Given the description of an element on the screen output the (x, y) to click on. 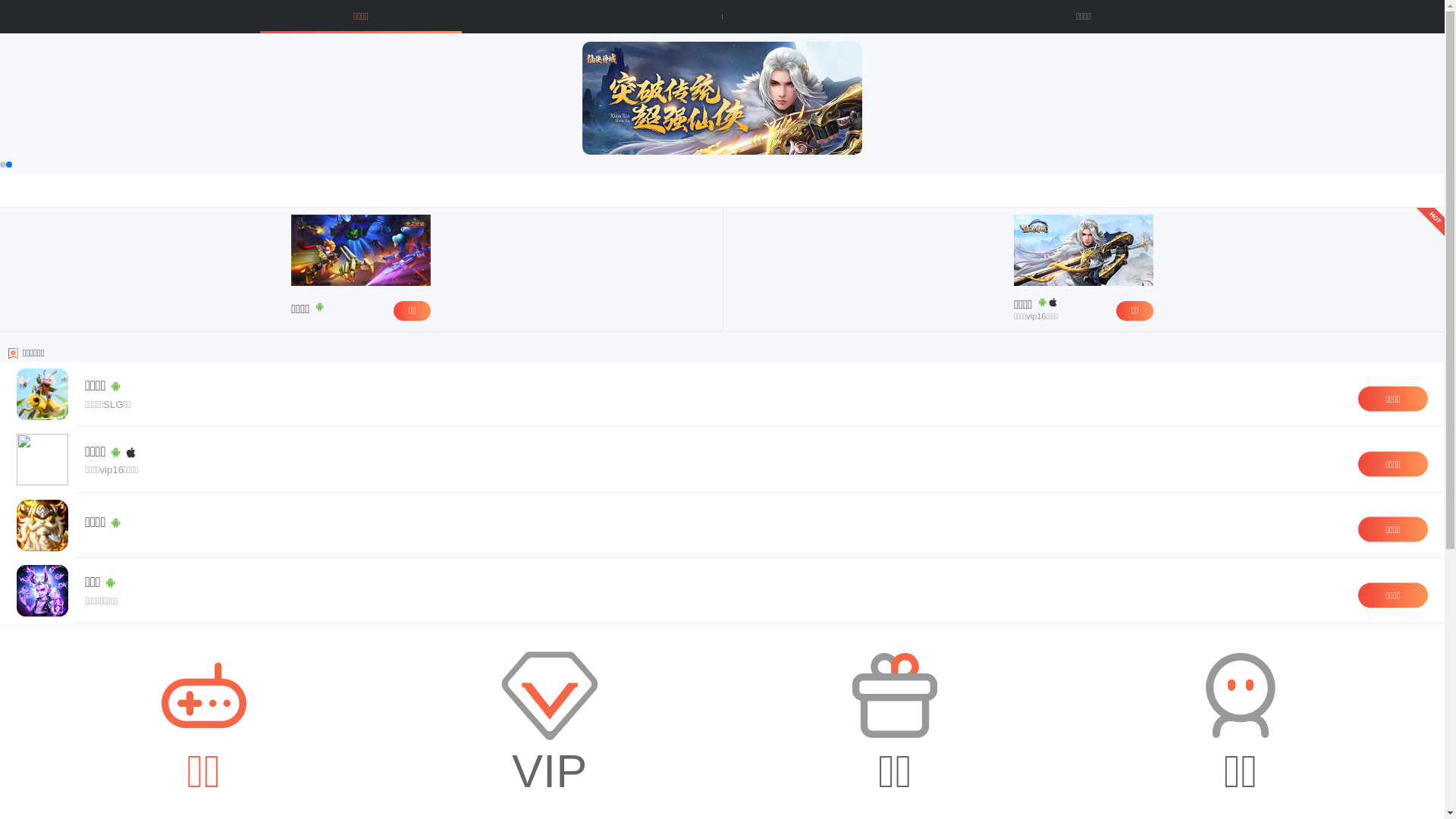
VIP Element type: text (549, 721)
